Given the description of an element on the screen output the (x, y) to click on. 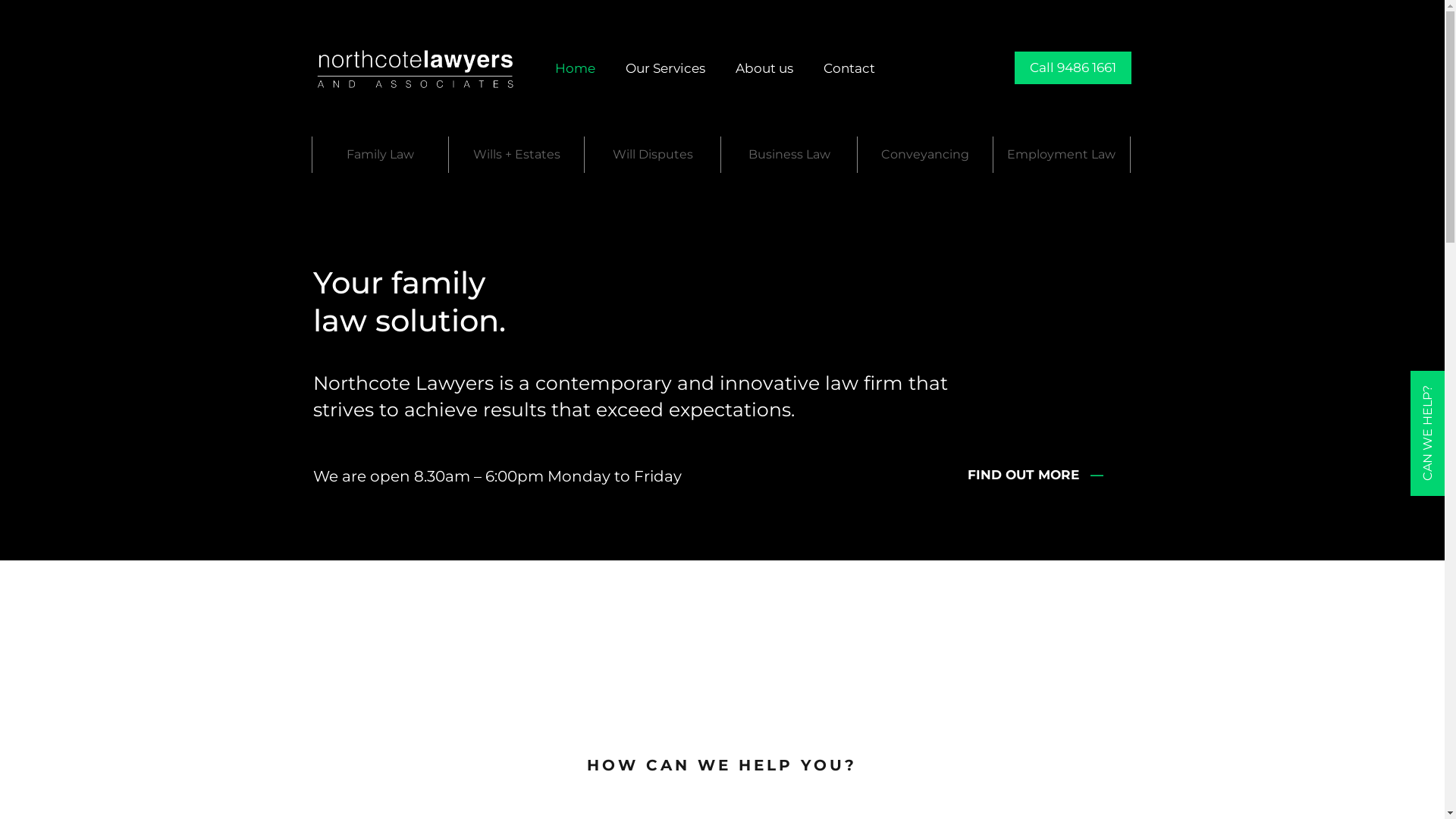
Northcote Lawyers Element type: hover (415, 68)
Conveyancing Element type: text (925, 154)
FIND OUT MORE Element type: text (1024, 474)
Wills + Estates Element type: text (516, 154)
Family Law Element type: text (379, 154)
Contact Element type: text (849, 68)
Business Law Element type: text (788, 154)
Our Services Element type: text (665, 68)
About us Element type: text (764, 68)
Employment Law Element type: text (1061, 154)
Home Element type: text (574, 68)
Will Disputes Element type: text (652, 154)
Call 9486 1661 Element type: text (1072, 67)
